Given the description of an element on the screen output the (x, y) to click on. 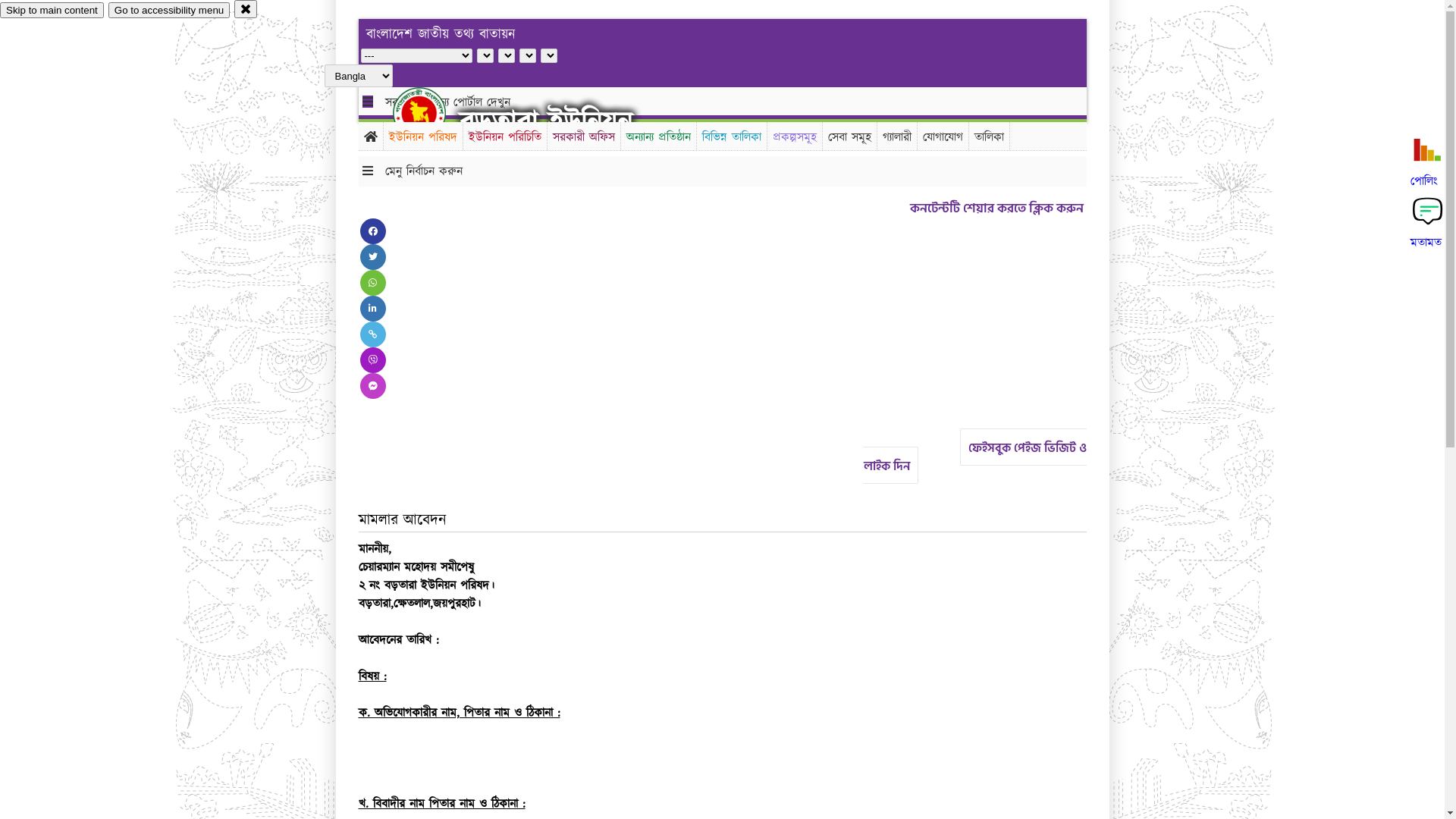
Skip to main content Element type: text (51, 10)
close Element type: hover (245, 9)

                
             Element type: hover (431, 112)
Go to accessibility menu Element type: text (168, 10)
